Given the description of an element on the screen output the (x, y) to click on. 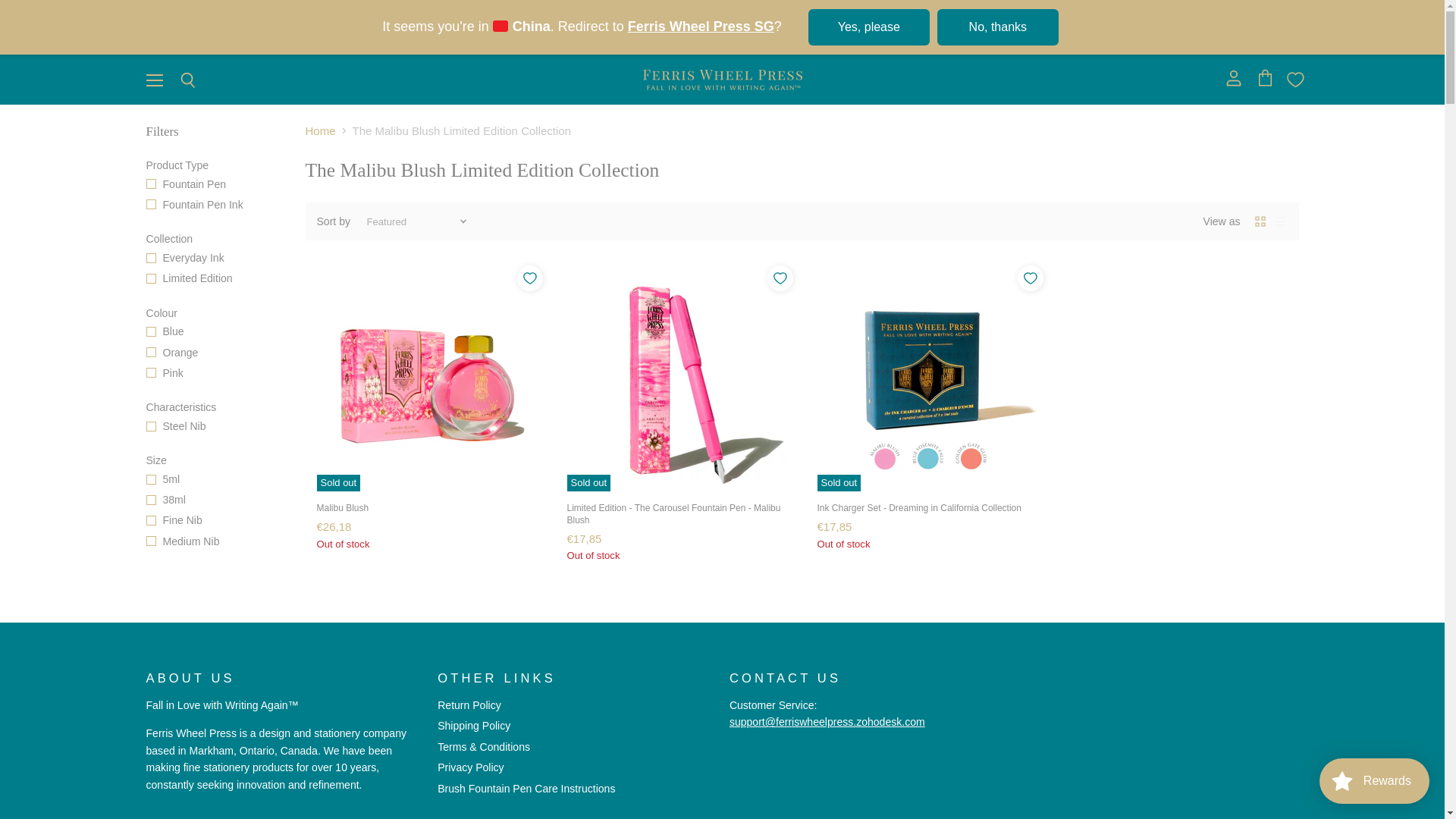
Grid icon (1260, 221)
Search (186, 80)
No, thanks (997, 27)
Ferris Wheel Press SG (700, 26)
Menu (154, 79)
Yes, please (869, 27)
